Given the description of an element on the screen output the (x, y) to click on. 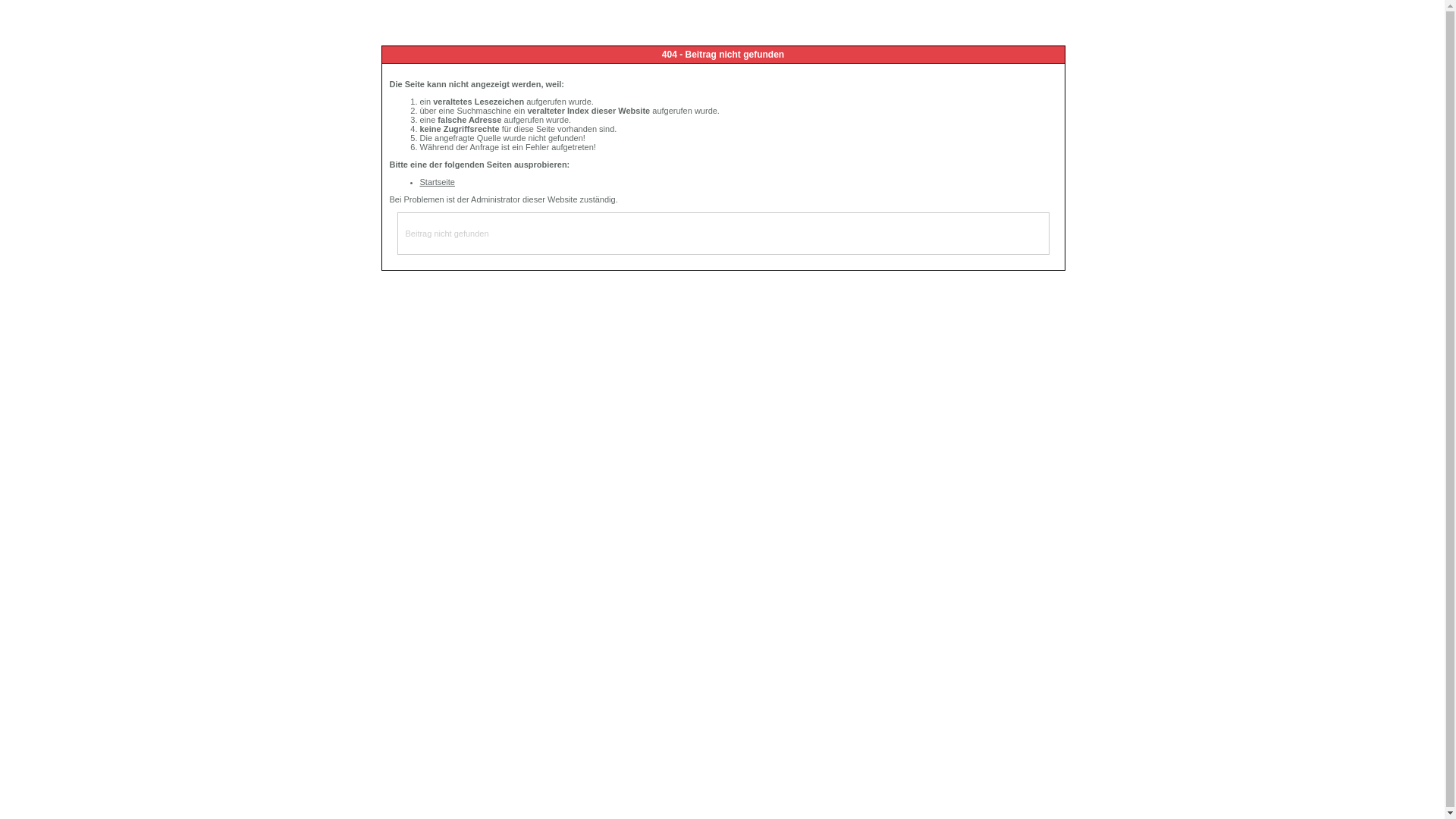
Startseite Element type: text (437, 181)
